Given the description of an element on the screen output the (x, y) to click on. 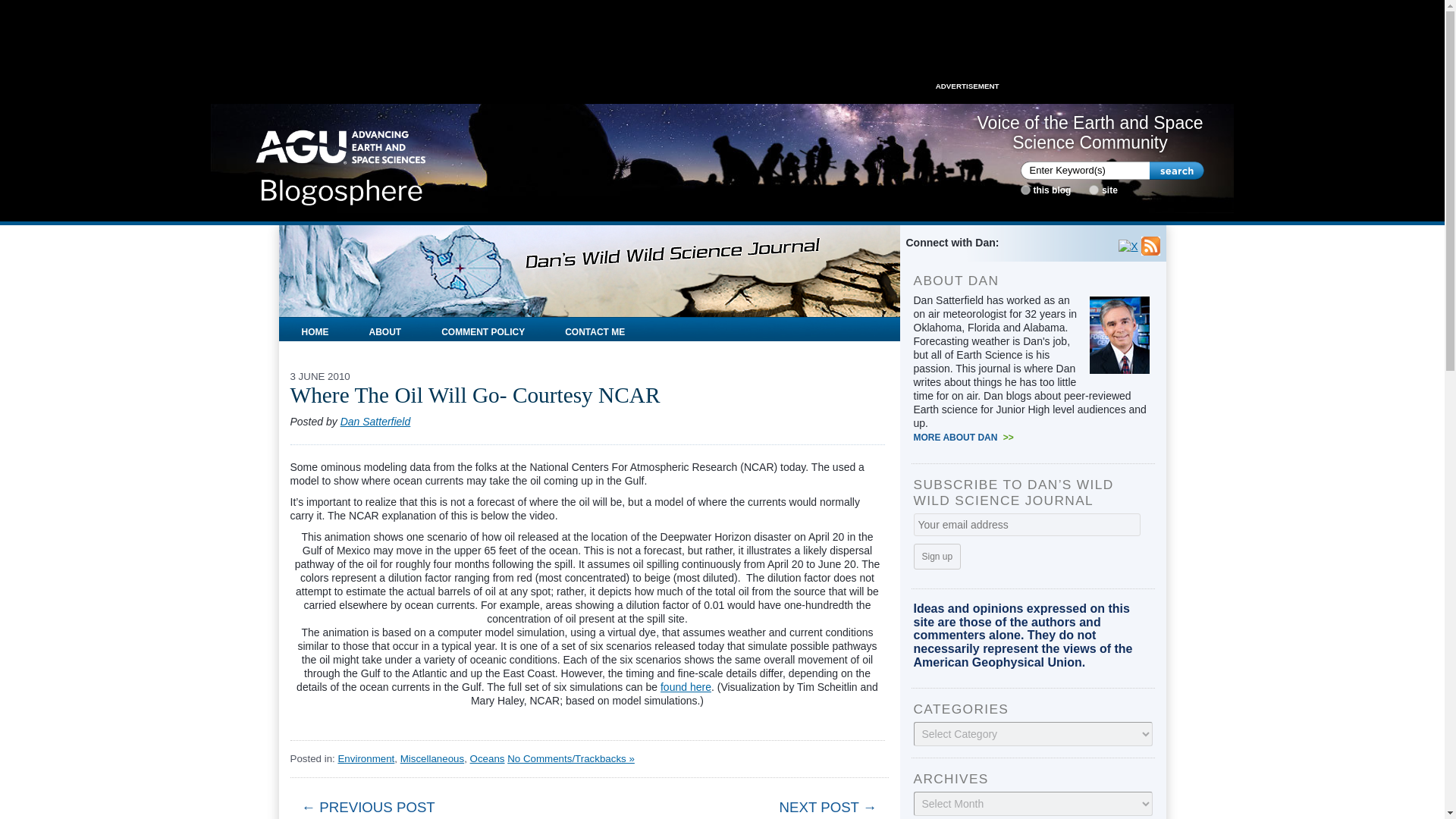
found here (686, 686)
3rd party ad content (721, 45)
blog (1025, 189)
Sign up (936, 556)
Permanent Link to Where The Oil Will Go- Courtesy NCAR (474, 395)
Environment (365, 758)
Home (341, 162)
COMMENT POLICY (482, 328)
Dan Satterfield (375, 421)
CONTACT ME (594, 328)
HOME (314, 328)
Where The Oil Will Go- Courtesy NCAR (474, 395)
ABOUT (385, 328)
Oil Spill  Annimations (686, 686)
all (1094, 189)
